Given the description of an element on the screen output the (x, y) to click on. 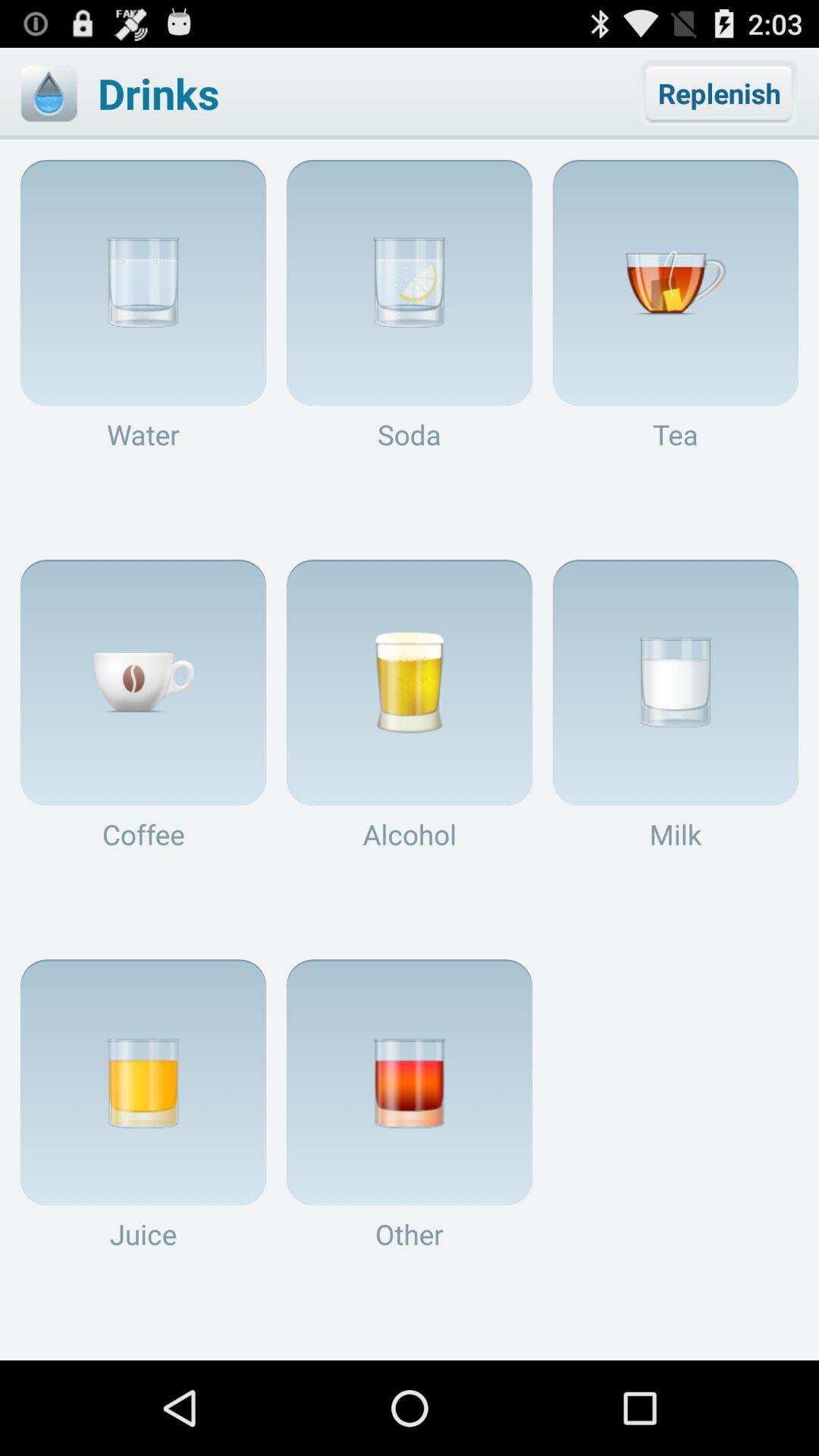
click the icon to the left of drinks item (48, 93)
